Given the description of an element on the screen output the (x, y) to click on. 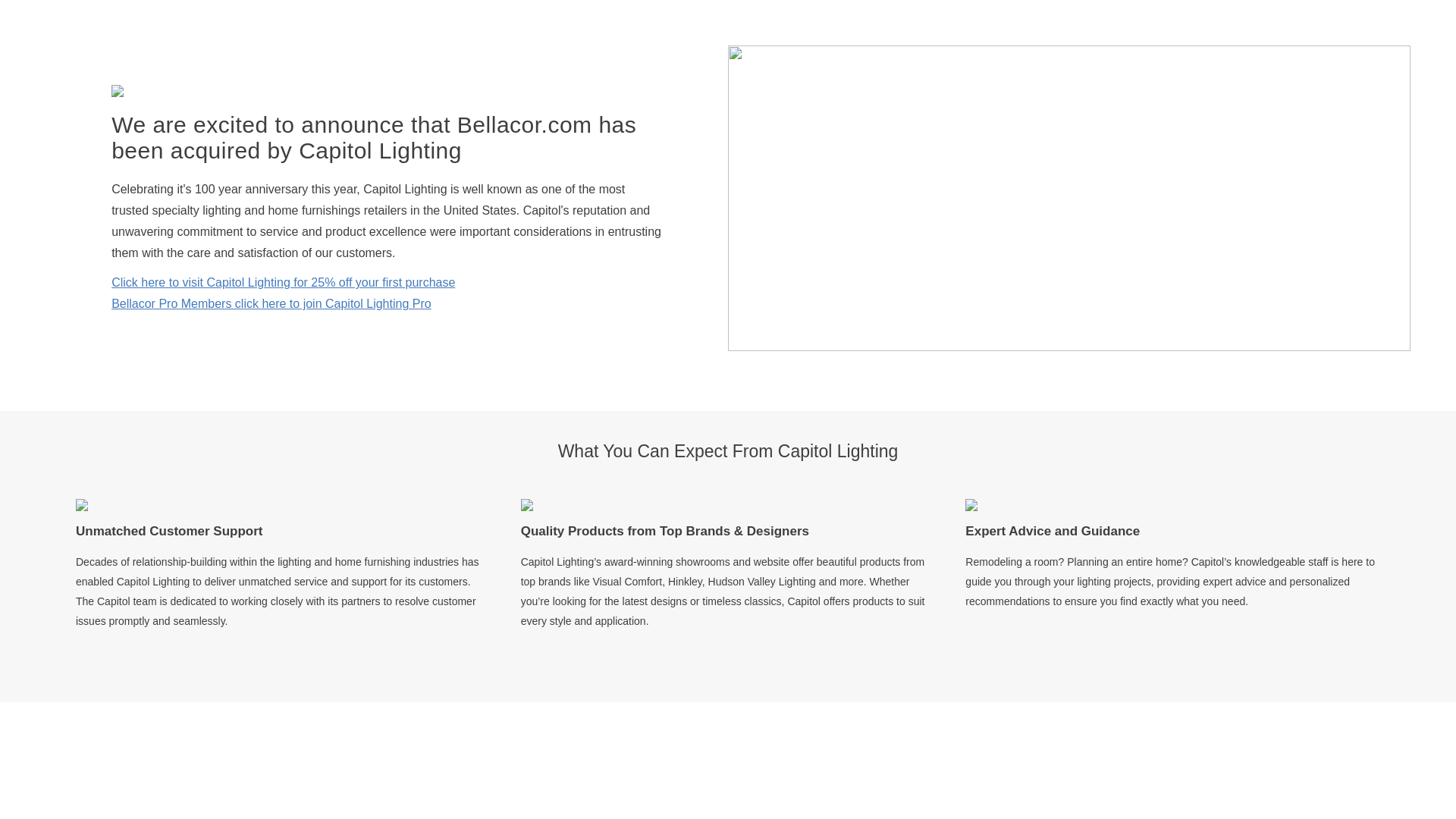
Bellacor Pro Members click here to join Capitol Lighting Pro (271, 304)
